Given the description of an element on the screen output the (x, y) to click on. 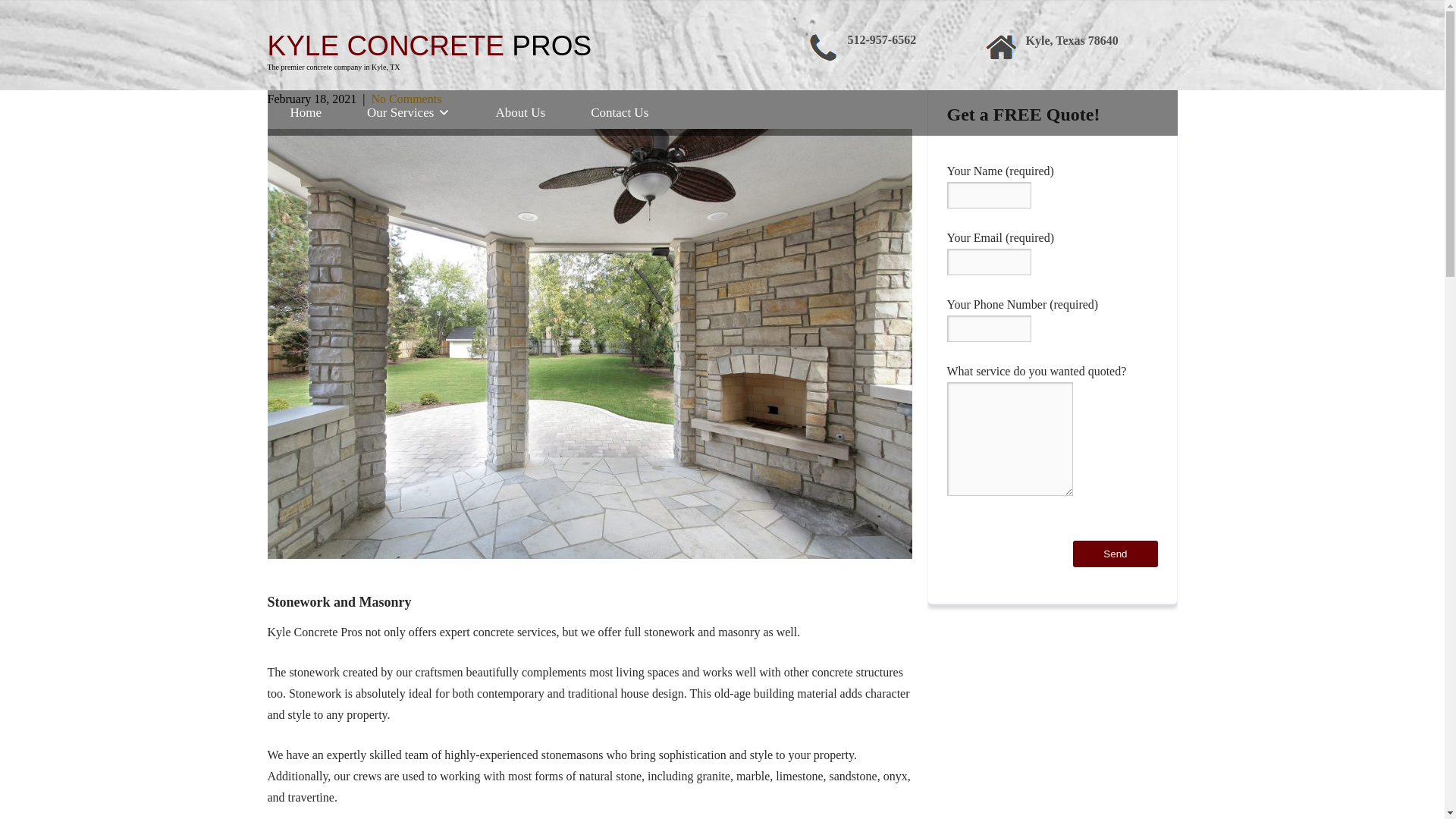
About Us (521, 112)
Send (1115, 553)
Home (304, 112)
Send (1115, 553)
Our Services (408, 112)
No Comments (428, 45)
Contact Us (406, 98)
